Given the description of an element on the screen output the (x, y) to click on. 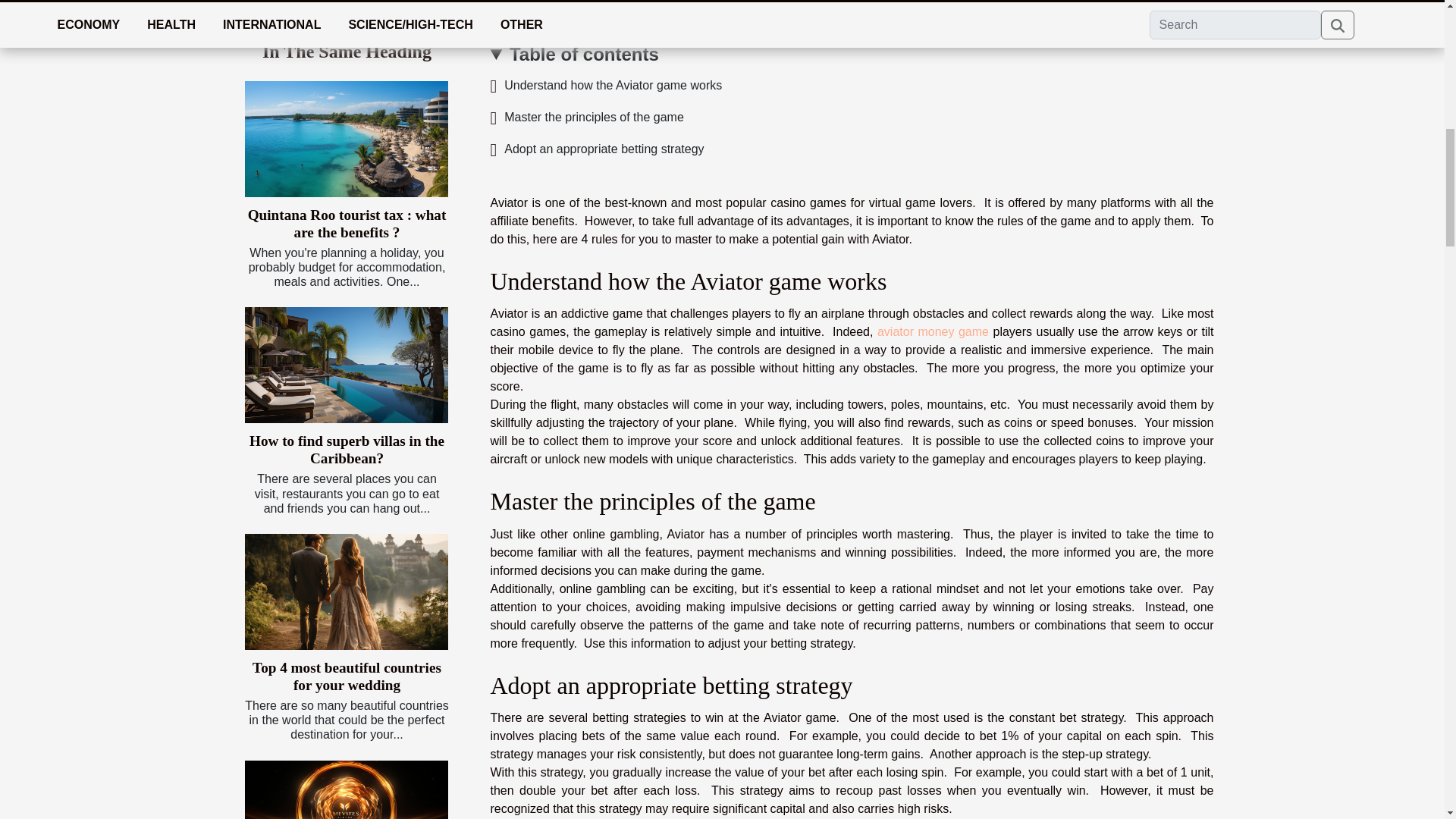
aviator money game (932, 331)
Quintana Roo tourist tax : what are the benefits ? (346, 223)
How to find superb villas in the Caribbean? (346, 449)
Master the principles of the game (585, 116)
How to find superb villas in the Caribbean? (346, 449)
The Metaverse Project revolution. (345, 789)
How to find superb villas in the Caribbean? (345, 365)
Quintana Roo tourist tax : what are the benefits ? (345, 139)
Adopt an appropriate betting strategy (596, 148)
Understand how the Aviator game works (605, 84)
Top 4 most beautiful countries for your wedding (345, 591)
Quintana Roo tourist tax : what are the benefits ? (346, 223)
Top 4 most beautiful countries for your wedding (346, 676)
Top 4 most beautiful countries for your wedding (346, 676)
